Given the description of an element on the screen output the (x, y) to click on. 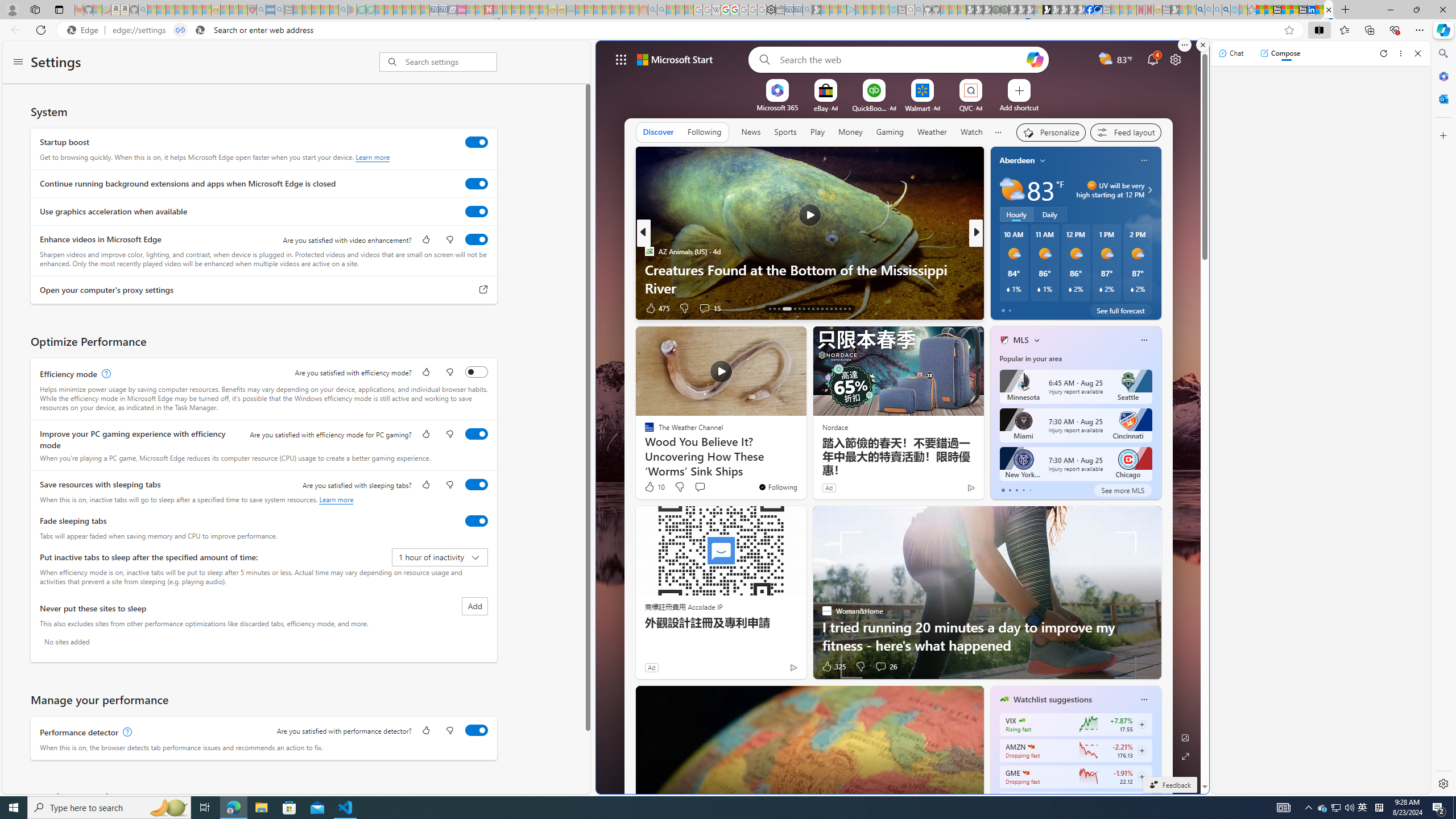
Save resources with sleeping tabs (476, 484)
Expand background (1185, 756)
LinkedIn (1311, 9)
UV will be very high starting at 12 PM (1147, 189)
Use graphics acceleration when available (476, 211)
